Given the description of an element on the screen output the (x, y) to click on. 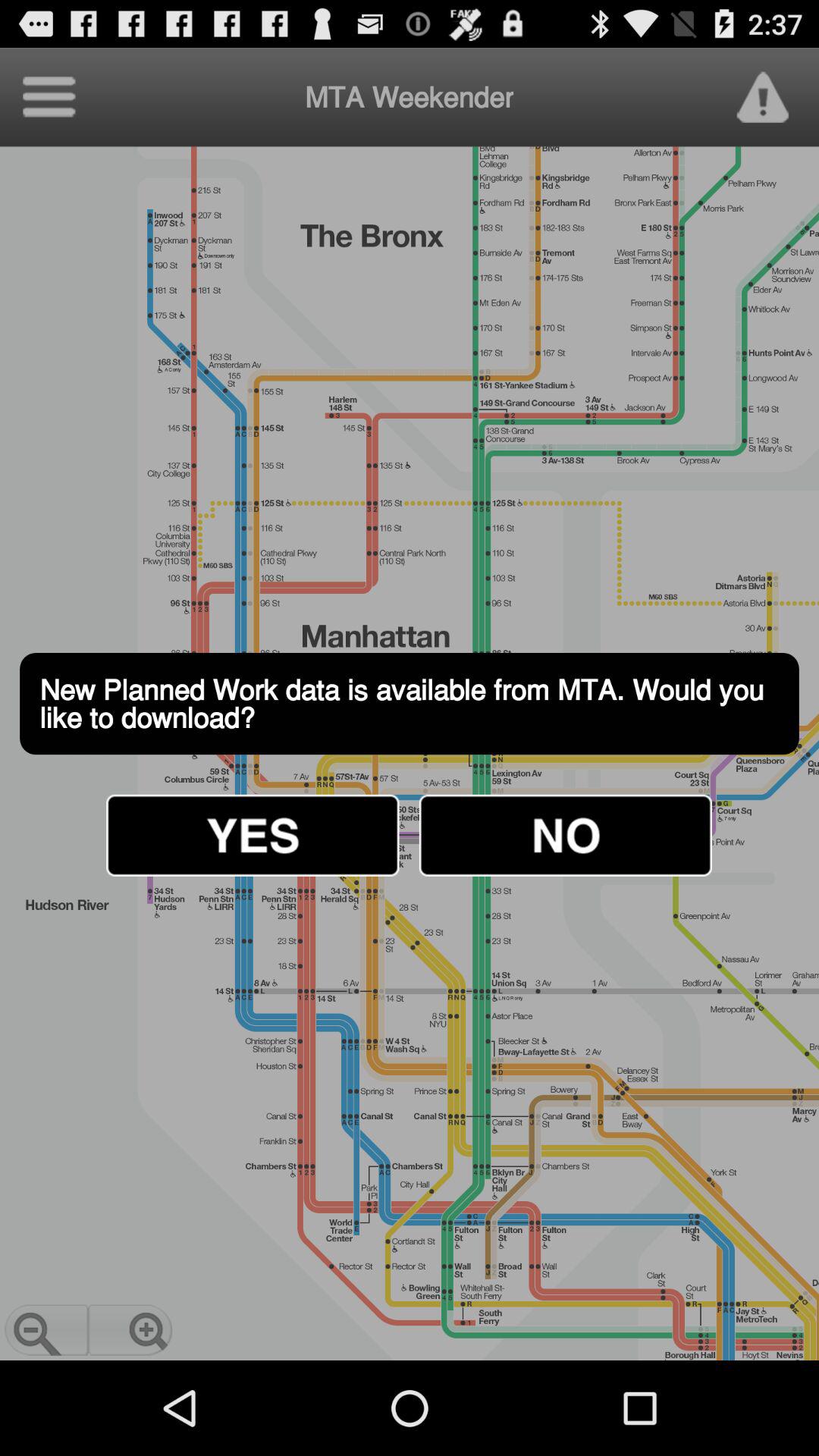
click icon below new planned work icon (252, 835)
